Given the description of an element on the screen output the (x, y) to click on. 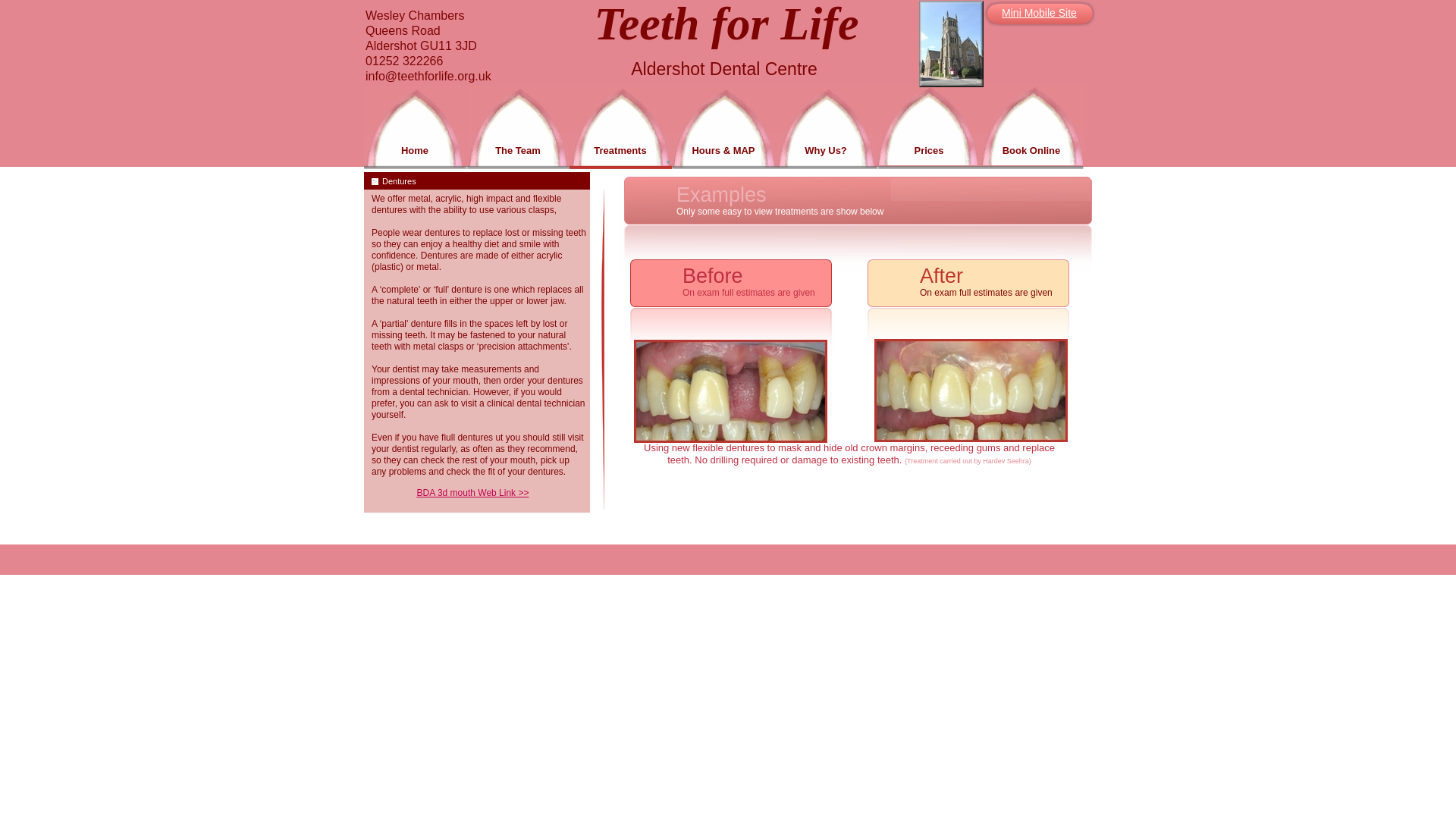
Treatments (620, 152)
Aldershot GU11 3JD (472, 46)
Aldershot Dental Centre (723, 69)
Wesley Chambers (435, 16)
Teeth for Life (726, 28)
Prices (929, 152)
Book Online (1031, 152)
BDA 3d mouth Web Link (467, 492)
Why Us? (825, 152)
The Team (518, 152)
Home (415, 152)
Mini Mobile Site (1039, 13)
01252 322266 (420, 61)
Queens Road (419, 31)
